Given the description of an element on the screen output the (x, y) to click on. 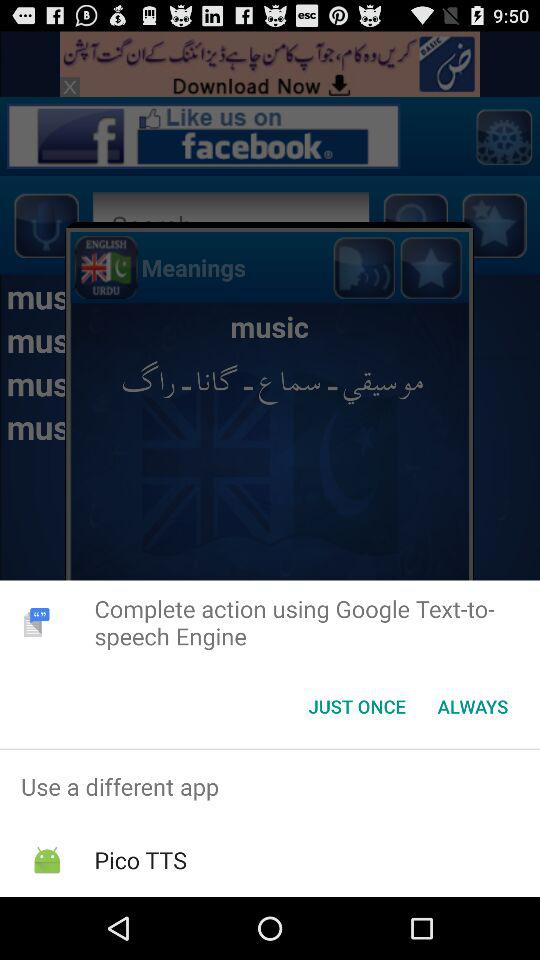
turn off the icon below use a different (140, 860)
